Given the description of an element on the screen output the (x, y) to click on. 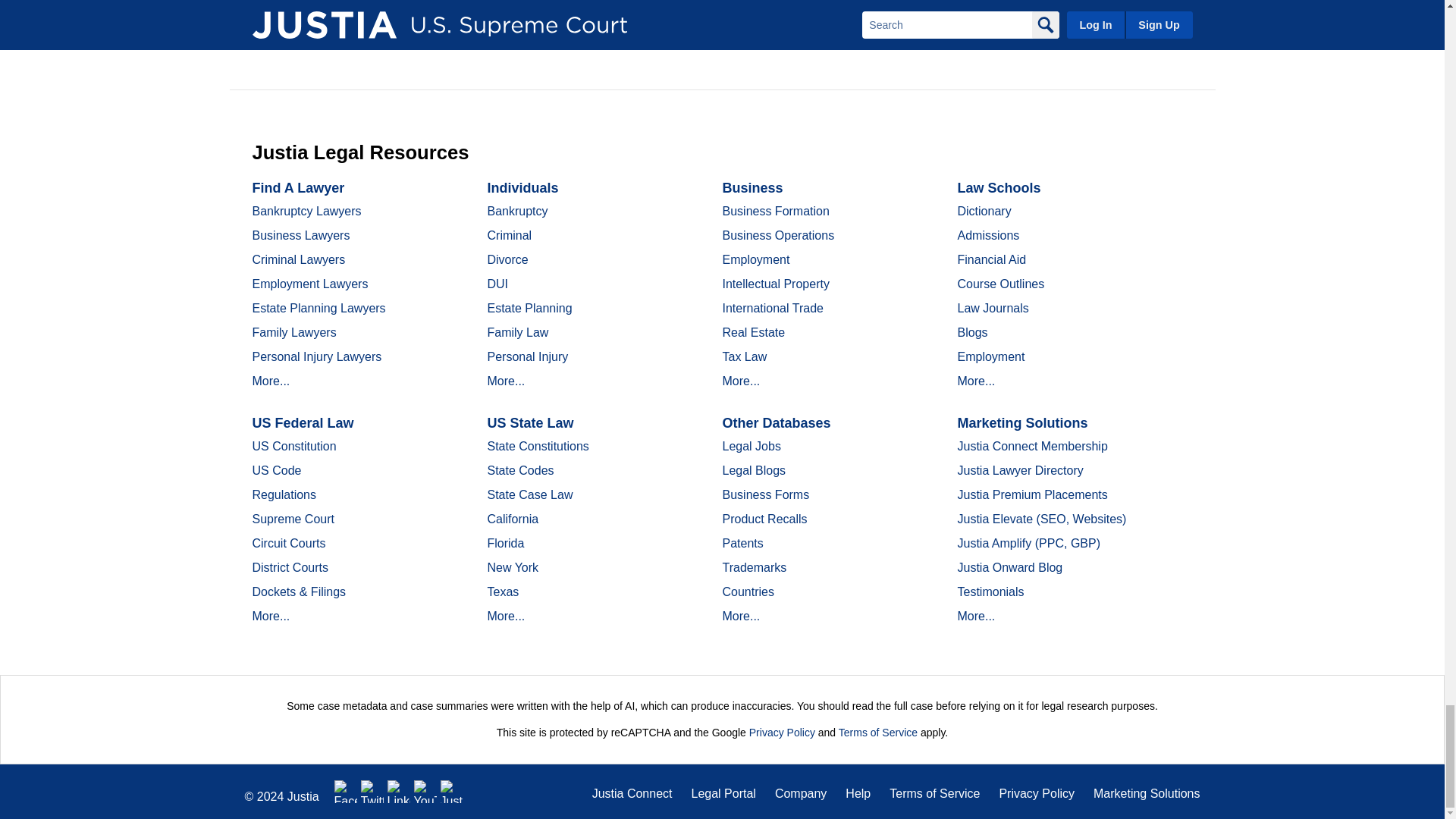
YouTube (424, 791)
Facebook (345, 791)
LinkedIn (398, 791)
Twitter (372, 791)
Justia Lawyer Directory (452, 791)
